Given the description of an element on the screen output the (x, y) to click on. 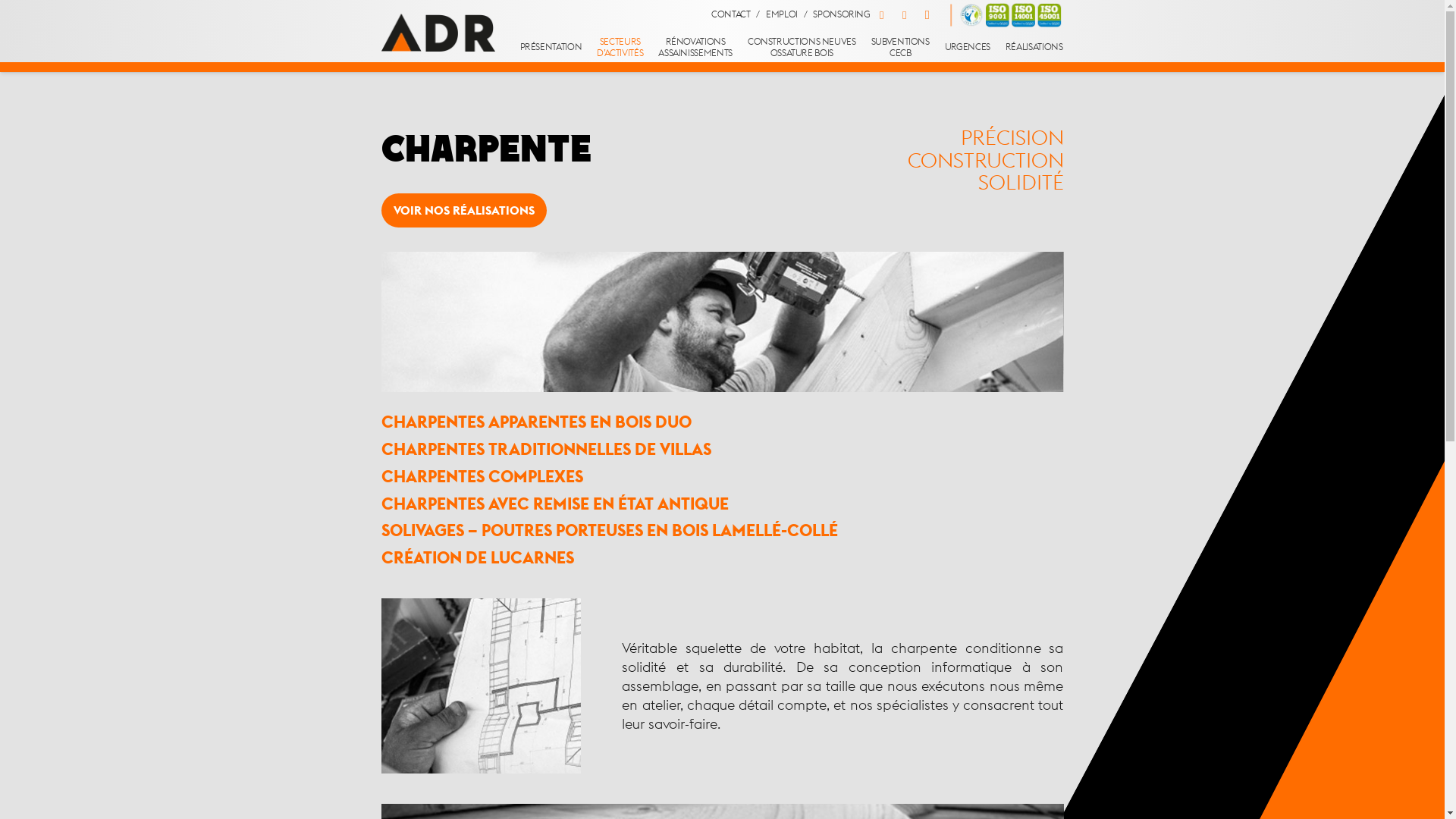
LinkedIn Element type: hover (904, 14)
CONTACT Element type: text (730, 14)
URGENCES Element type: text (967, 47)
CONSTRUCTIONS NEUVES
OSSATURE BOIS Element type: text (801, 47)
SUBVENTIONS
CECB Element type: text (900, 47)
Facebook Element type: hover (881, 14)
Instagram Element type: hover (927, 14)
EMPLOI Element type: text (781, 14)
SPONSORING Element type: text (840, 14)
